Given the description of an element on the screen output the (x, y) to click on. 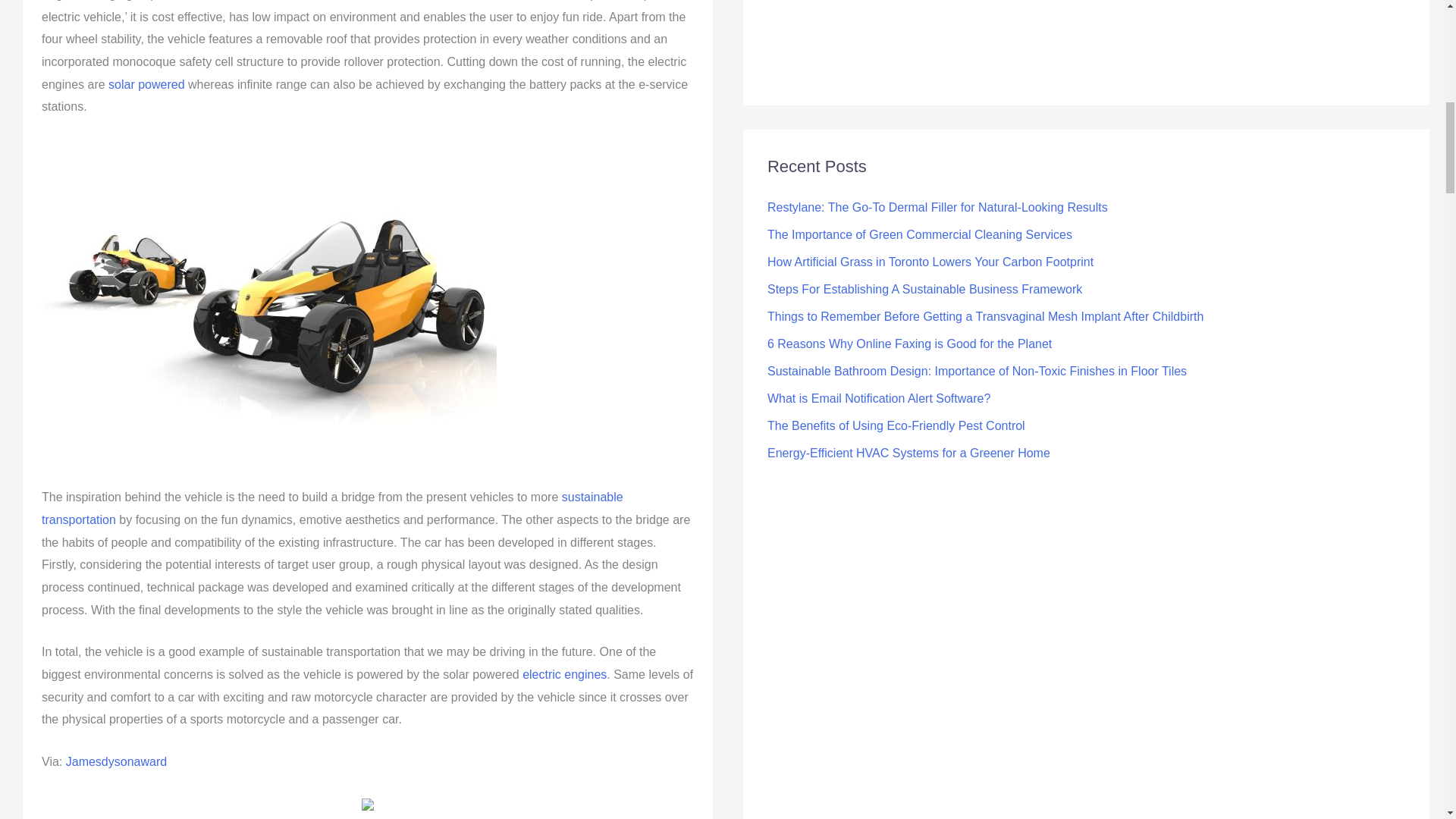
Advertisement (868, 40)
